Given the description of an element on the screen output the (x, y) to click on. 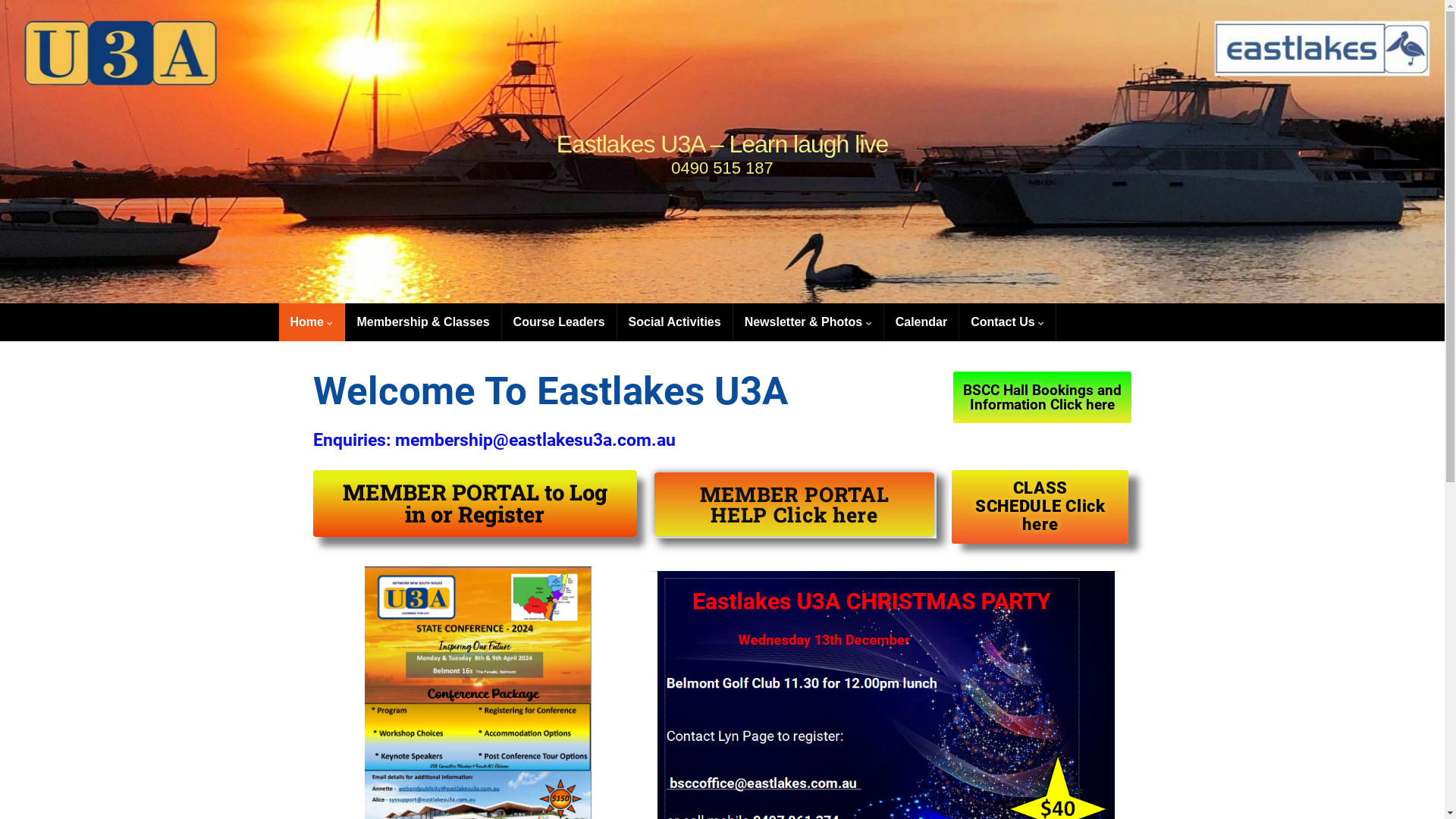
Social Activities Element type: text (674, 322)
cropped-Annette-3b-11.7x2.5-small-scaled-1.jpg Element type: hover (722, 151)
Calendar Element type: text (921, 322)
CLASS SCHEDULE Click here Element type: text (1039, 506)
MEMBER PORTAL to Log in or Register Element type: text (474, 503)
Enquiries: membership@eastlakesu3a.com.au Element type: text (493, 439)
Newsletter & Photos Element type: text (808, 322)
MEMBER PORTAL HELP Click here Element type: text (794, 504)
BSCC Hall Bookings and Information Click here Element type: text (1042, 397)
Course Leaders Element type: text (559, 322)
Contact Us Element type: text (1007, 322)
Membership & Classes Element type: text (422, 322)
Home Element type: text (312, 322)
